Given the description of an element on the screen output the (x, y) to click on. 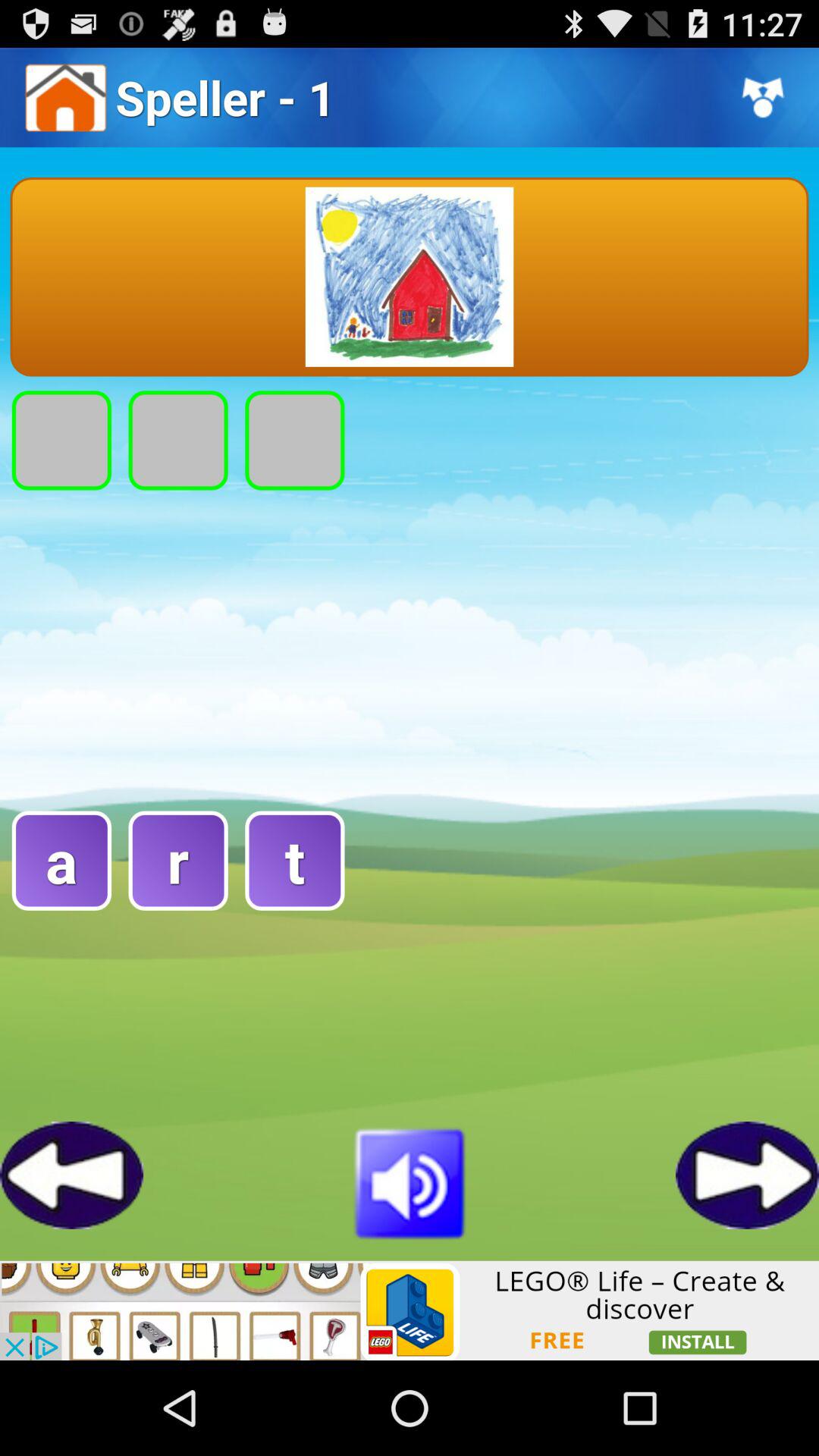
back (71, 1175)
